Given the description of an element on the screen output the (x, y) to click on. 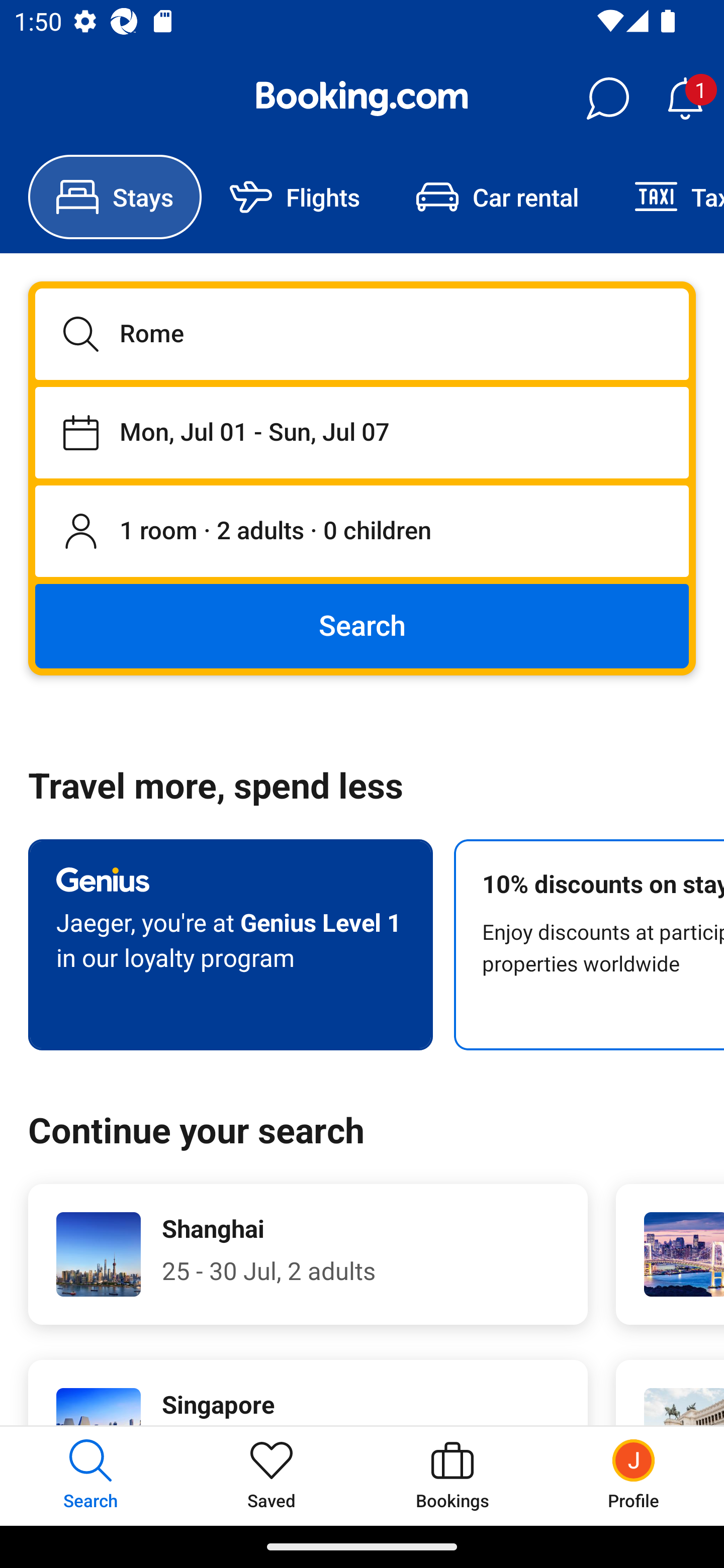
Messages (607, 98)
Notifications (685, 98)
Stays (114, 197)
Flights (294, 197)
Car rental (497, 197)
Taxi (665, 197)
Rome (361, 333)
Staying from Mon, Jul 01 until Sun, Jul 07 (361, 432)
1 room, 2 adults, 0 children (361, 531)
Search (361, 625)
Shanghai 25 - 30 Jul, 2 adults (307, 1253)
Saved (271, 1475)
Bookings (452, 1475)
Profile (633, 1475)
